Given the description of an element on the screen output the (x, y) to click on. 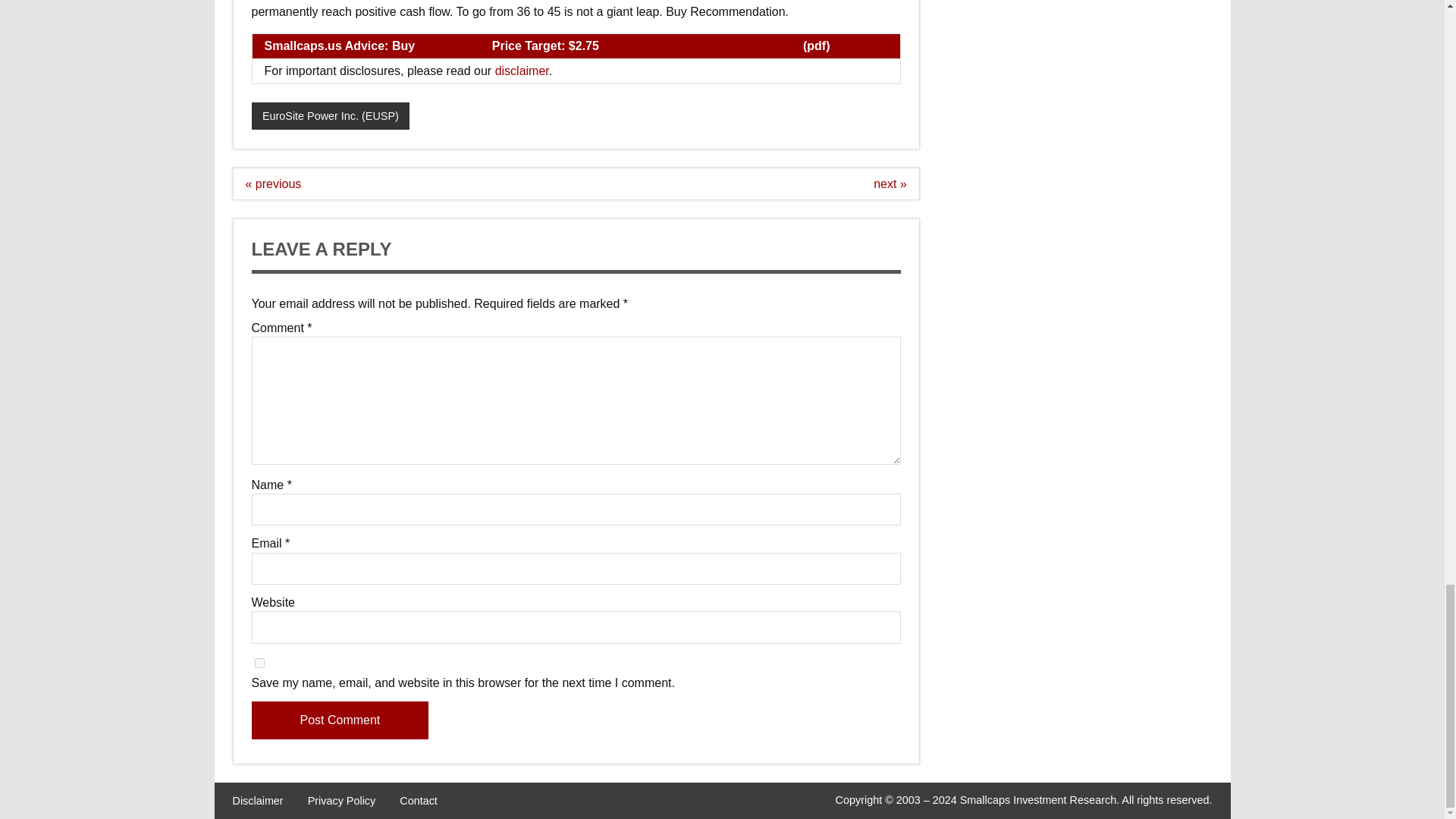
disclaimer (521, 70)
Privacy Policy (341, 800)
Contact (418, 800)
Post Comment (340, 720)
Post Comment (340, 720)
Latest Company Report (730, 45)
yes (259, 663)
Disclaimer (256, 800)
